Given the description of an element on the screen output the (x, y) to click on. 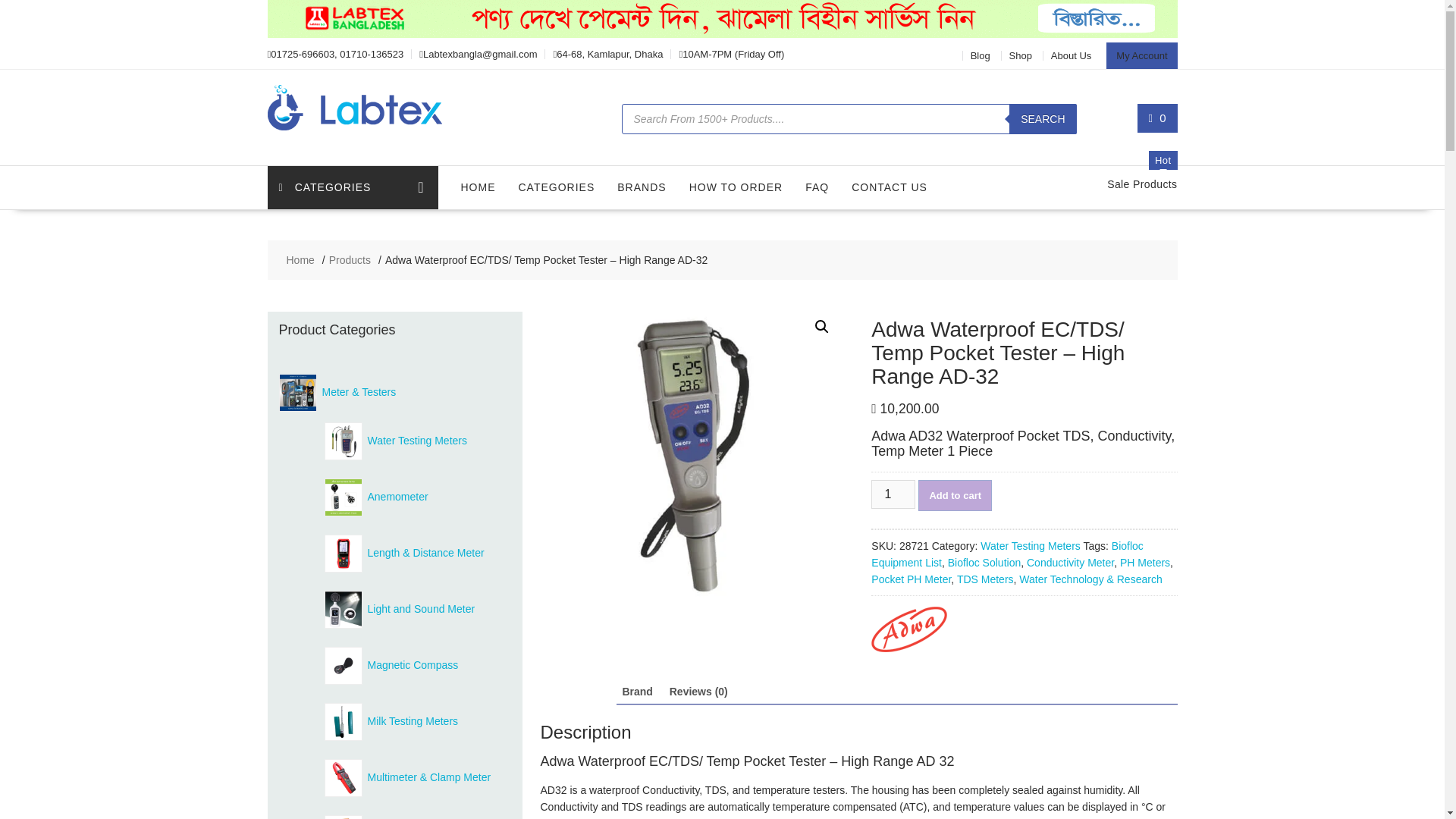
0 (1157, 117)
Shop (1020, 55)
1 (892, 493)
About Us (1070, 55)
CATEGORIES (352, 187)
SEARCH (1042, 119)
Labtex Bangladesh (721, 33)
Blog (980, 55)
64-68, Kamlapur, Dhaka (609, 53)
Adwa (908, 631)
My Account (1141, 55)
